Given the description of an element on the screen output the (x, y) to click on. 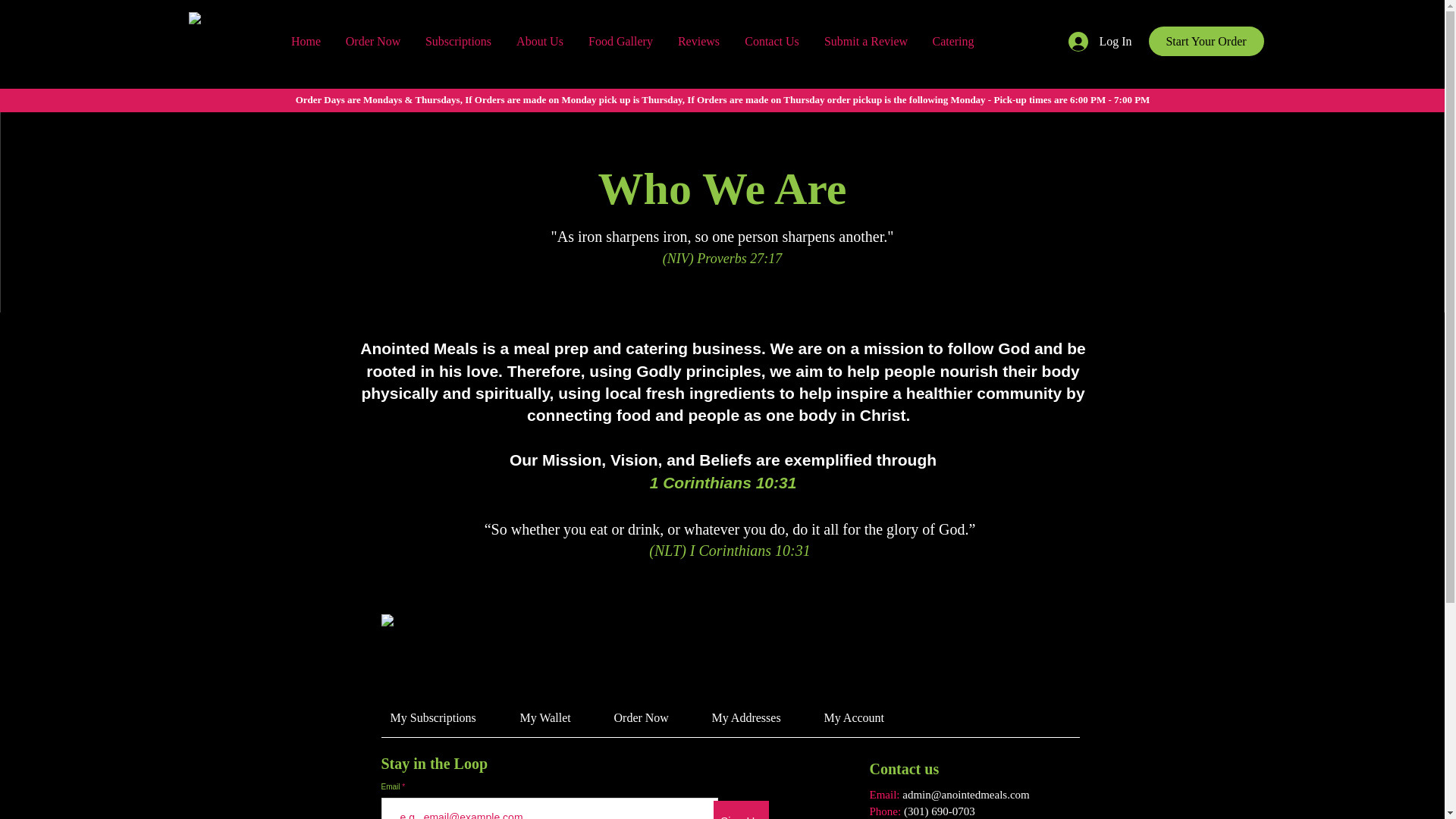
Subscriptions (457, 41)
About Us (539, 41)
Reviews (698, 41)
My Subscriptions (443, 717)
Food Gallery (620, 41)
Start Your Order (1205, 41)
My Account (864, 717)
Sign Up (740, 809)
Home (306, 41)
Submit a Review (865, 41)
